Given the description of an element on the screen output the (x, y) to click on. 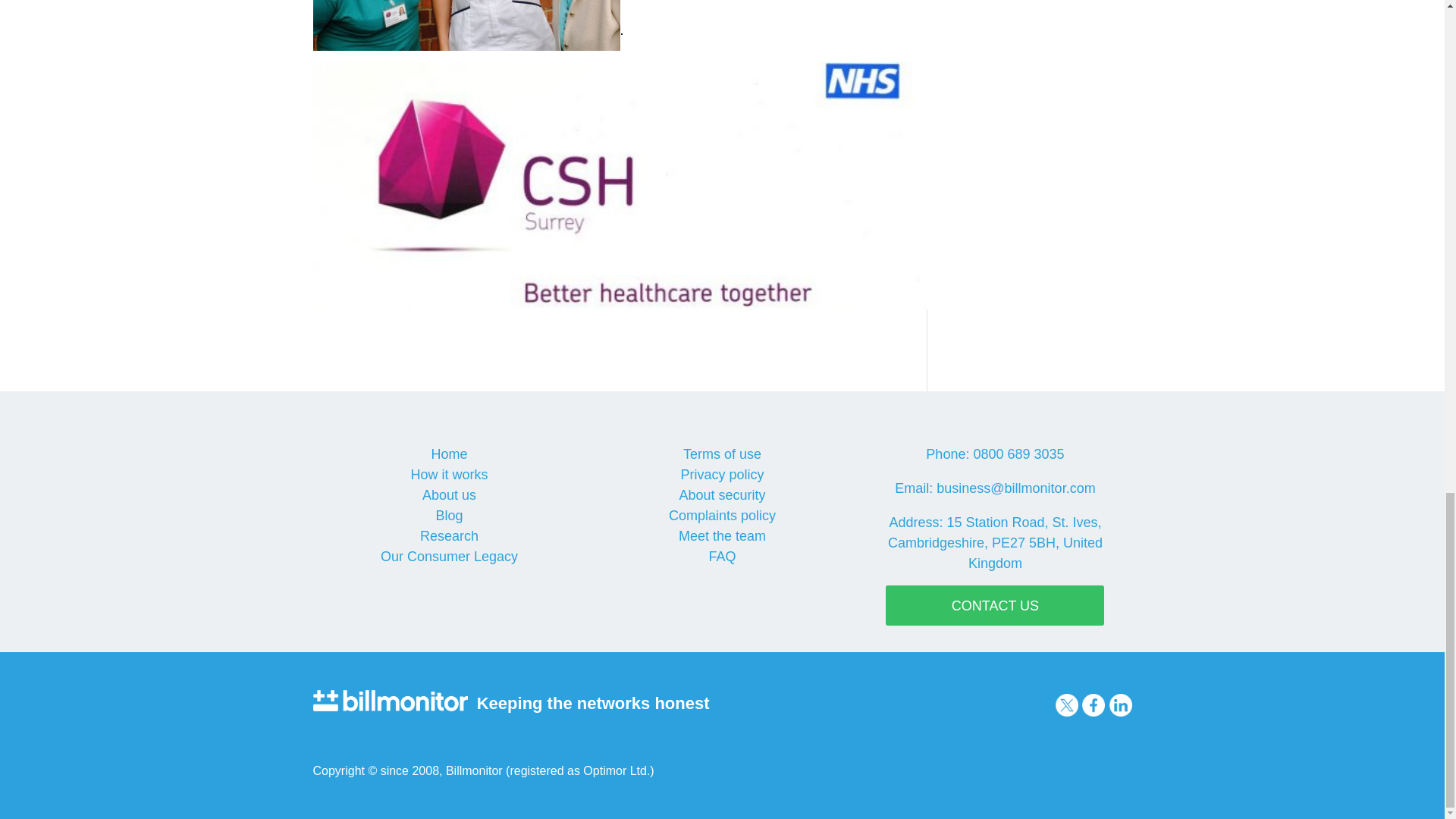
Meet the team (721, 535)
Our Consumer Legacy (449, 556)
Complaints policy (722, 515)
Terms of use (721, 453)
How it works (448, 474)
Blog (449, 515)
FAQ (721, 556)
CONTACT US (994, 605)
Privacy policy (720, 474)
Home (448, 453)
About security (721, 494)
About us (449, 494)
Research (449, 535)
0800 689 3035 (1018, 453)
